Given the description of an element on the screen output the (x, y) to click on. 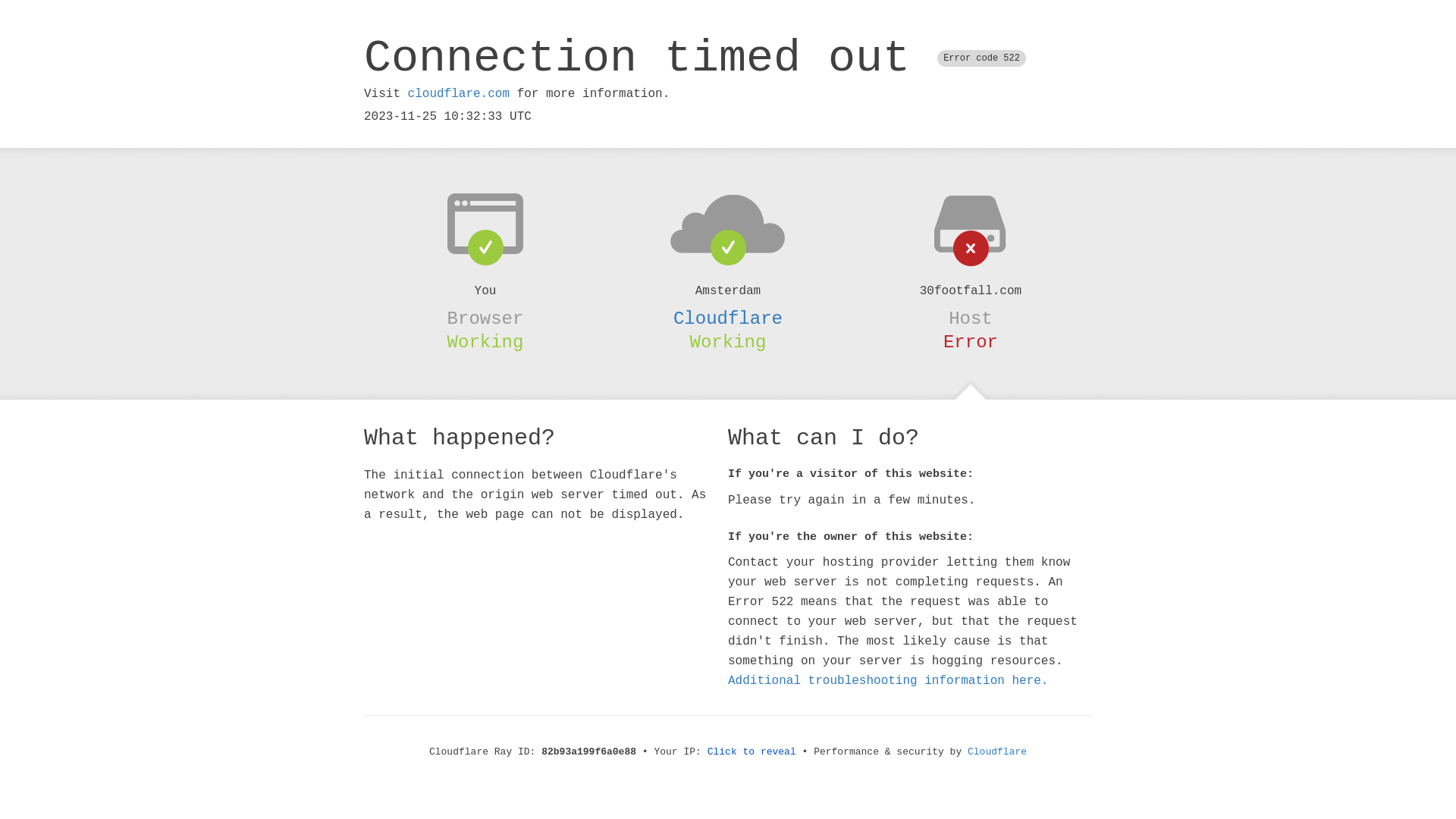
Additional troubleshooting information here. Element type: text (888, 680)
cloudflare.com Element type: text (458, 93)
Cloudflare Element type: text (727, 318)
Cloudflare Element type: text (996, 751)
Click to reveal Element type: text (751, 751)
